Given the description of an element on the screen output the (x, y) to click on. 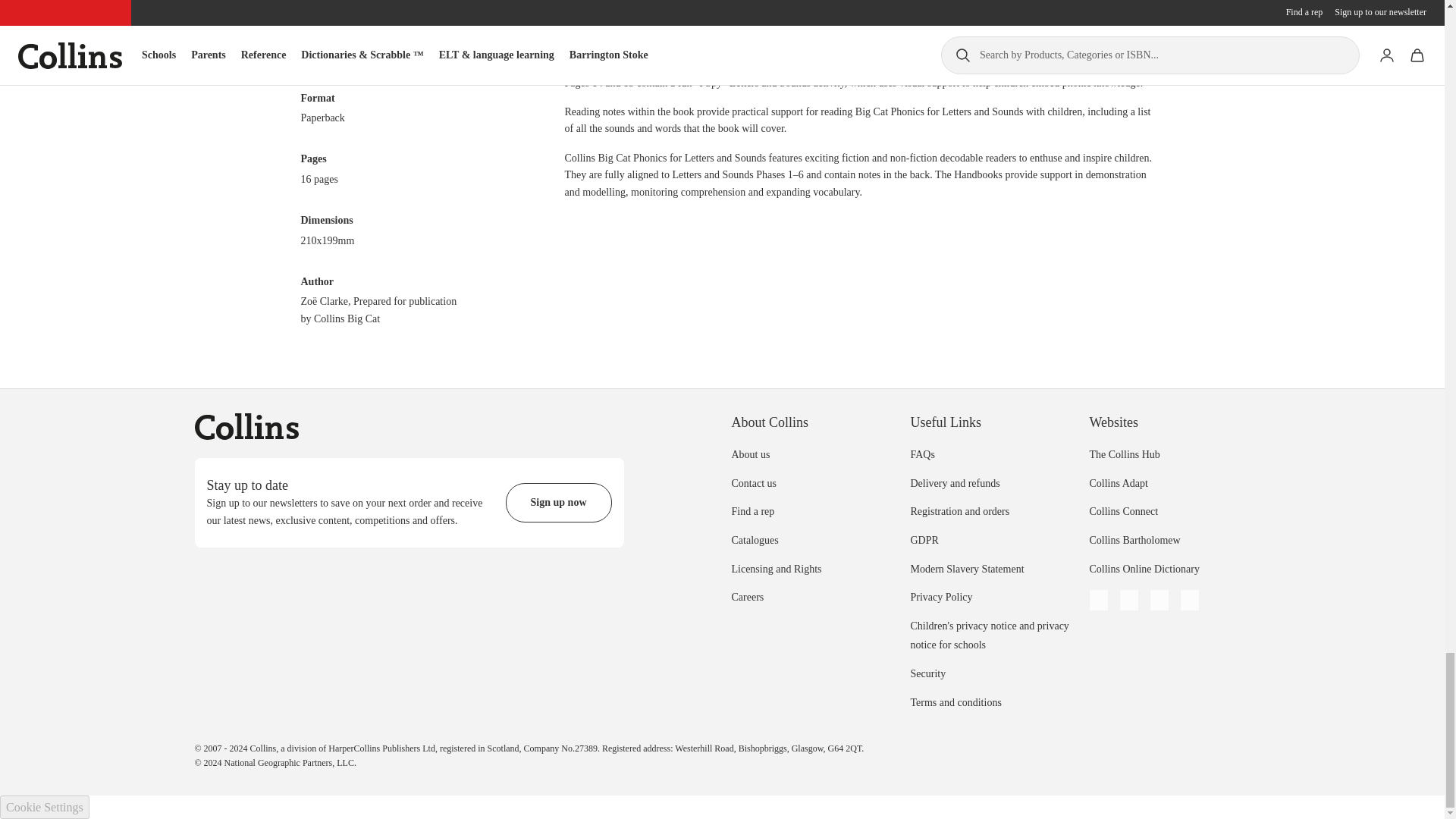
FAQs (922, 454)
About us (750, 454)
Privacy Policy (941, 596)
Security (927, 673)
Delivery and refunds (954, 482)
Registration and orders (959, 511)
Contact us (753, 482)
Find a rep (752, 511)
Licensing and Rights (775, 568)
Terms and conditions (955, 702)
